Given the description of an element on the screen output the (x, y) to click on. 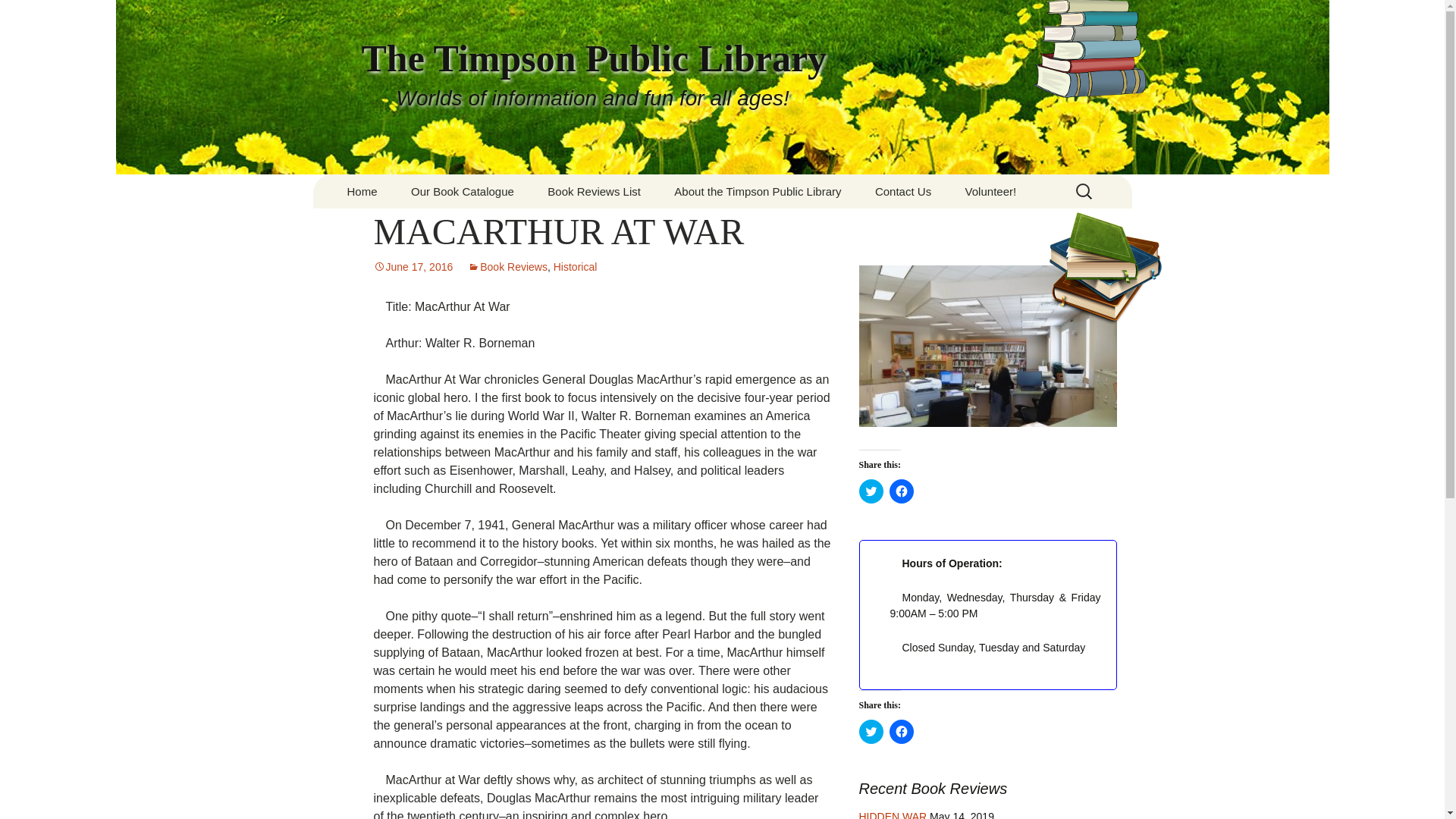
Historical (574, 266)
Permalink to MACARTHUR AT WAR (412, 266)
Home (362, 191)
Volunteer! (991, 191)
Contact Us (903, 191)
Our Book Catalogue (462, 191)
Click to share on Facebook (900, 731)
June 17, 2016 (412, 266)
Search (18, 15)
About the Timpson Public Library (757, 191)
HIDDEN WAR (892, 814)
Click to share on Facebook (900, 491)
